Given the description of an element on the screen output the (x, y) to click on. 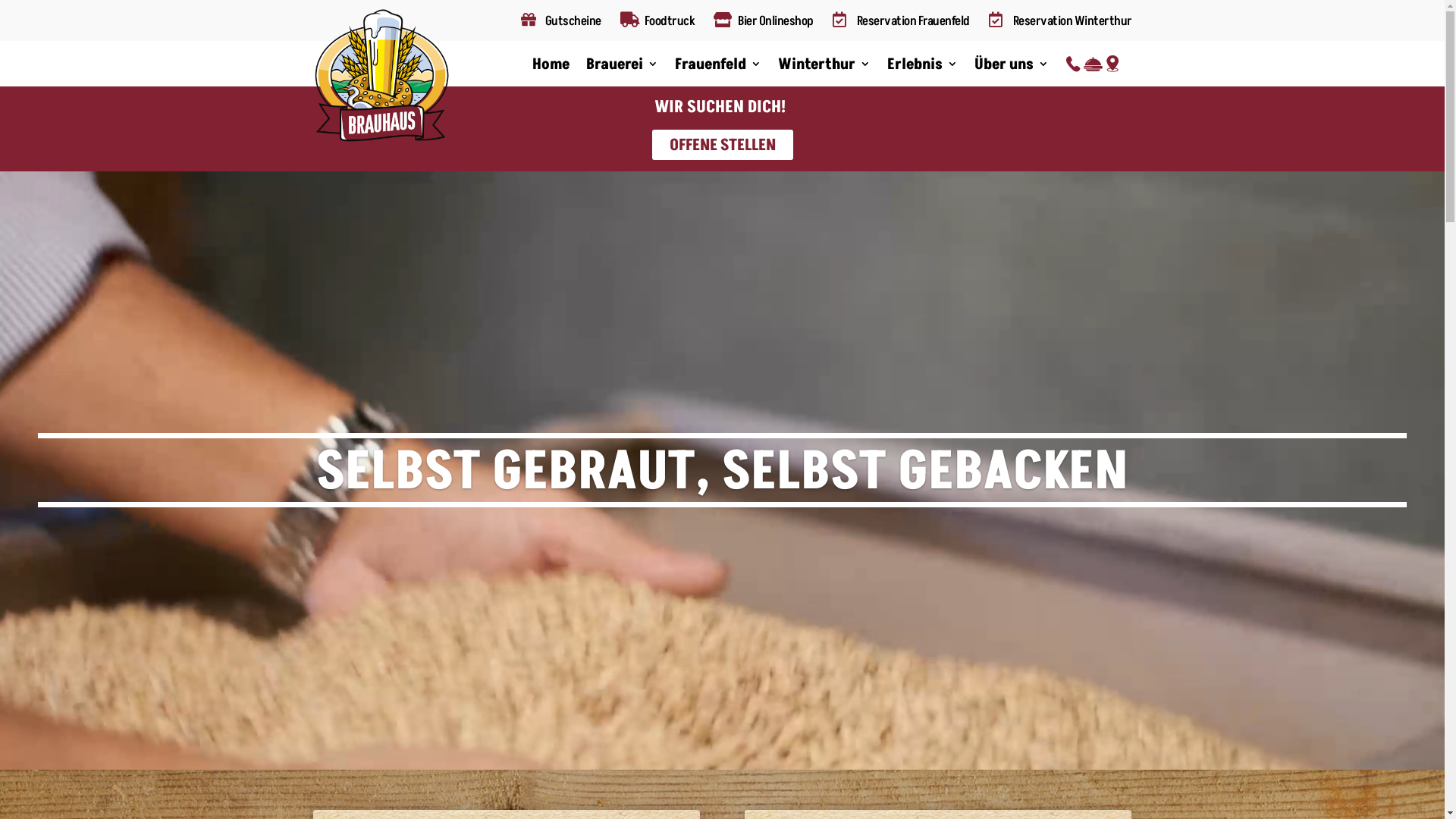
Erlebnis Element type: text (922, 66)
Brauerei Element type: text (621, 66)
Winterthur Element type: text (824, 66)
brauhaus-logo Element type: hover (380, 74)
OFFENE STELLEN Element type: text (722, 144)
Frauenfeld Element type: text (717, 66)
Home Element type: text (550, 66)
